Given the description of an element on the screen output the (x, y) to click on. 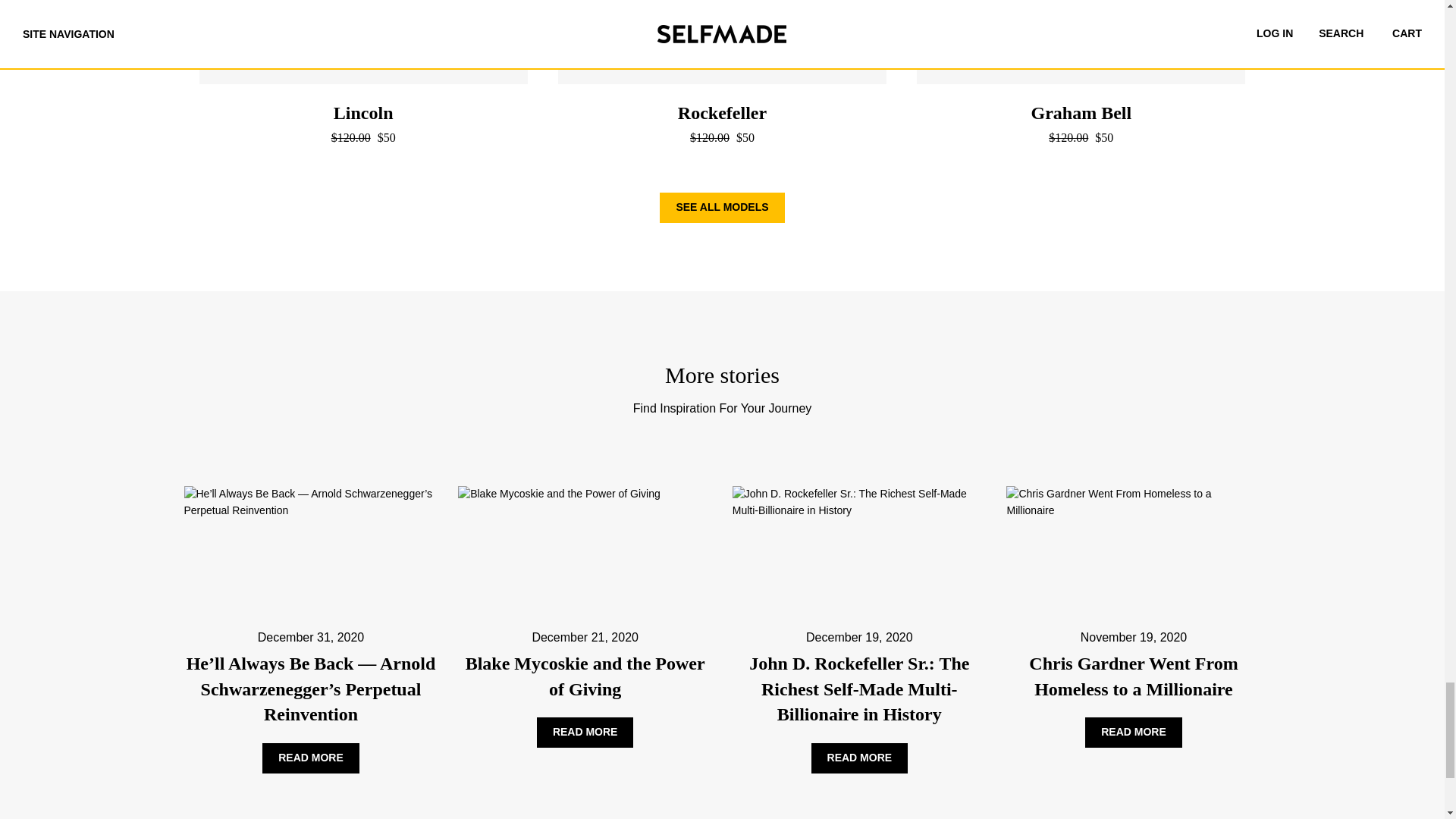
See all models (721, 207)
READ MORE (585, 732)
READ MORE (310, 757)
SEE ALL MODELS (721, 207)
Blake Mycoskie and the Power of Giving (584, 676)
